Given the description of an element on the screen output the (x, y) to click on. 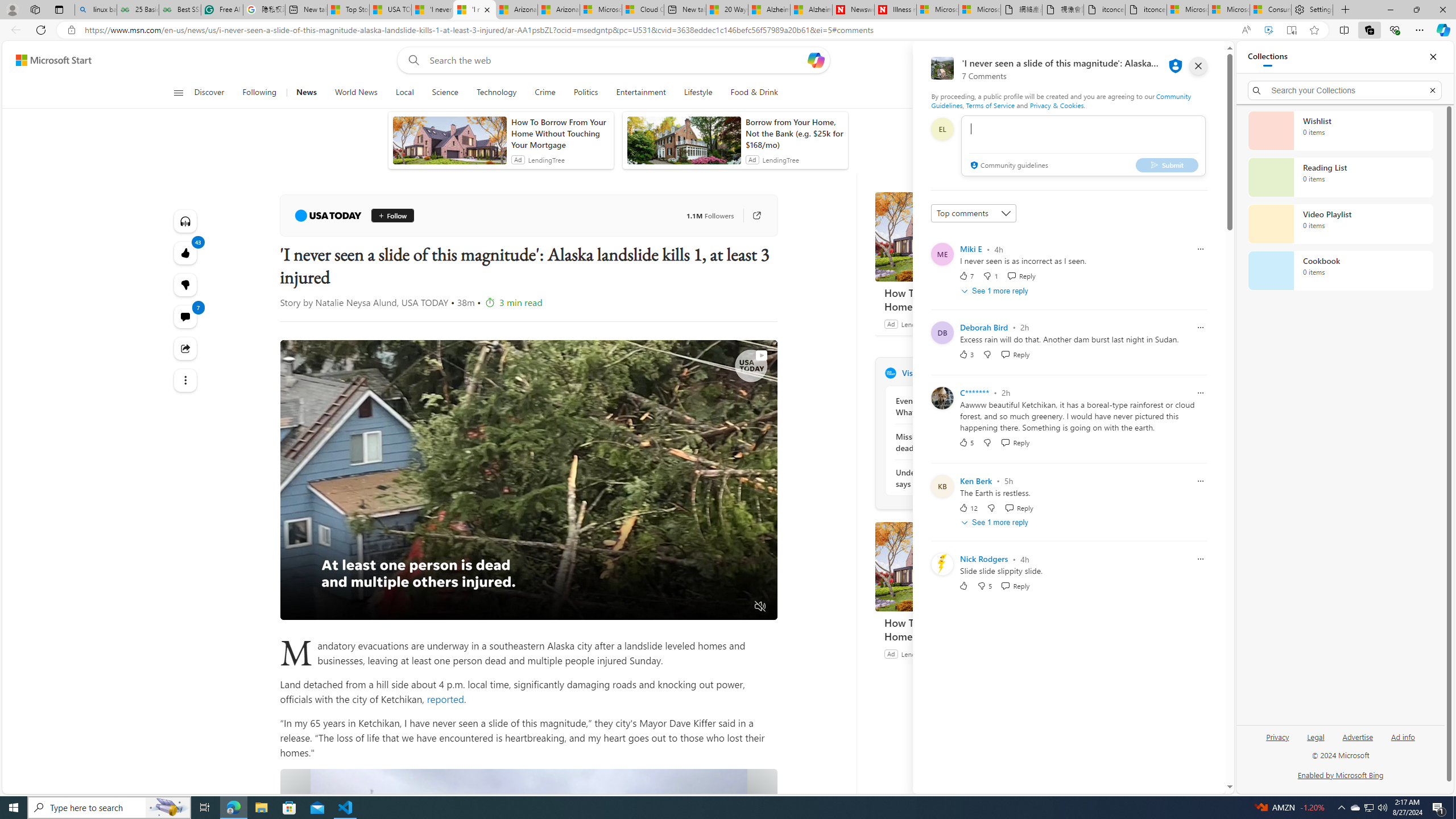
Quality Settings (692, 606)
 reported (443, 698)
Top Stories - MSN (347, 9)
Entertainment (641, 92)
USA TODAY (328, 215)
Like (962, 585)
